Given the description of an element on the screen output the (x, y) to click on. 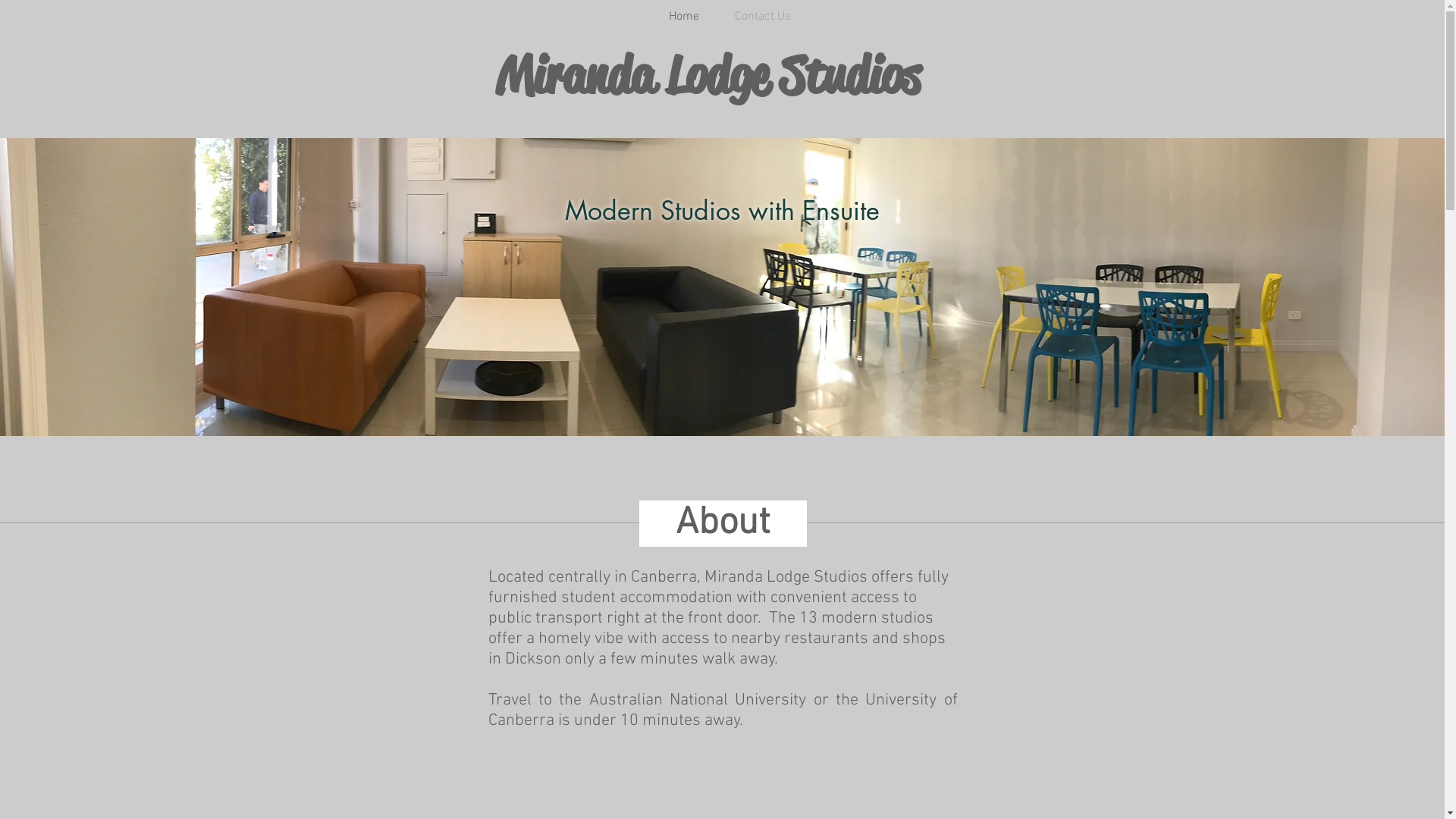
Home Element type: text (683, 17)
Contact Us Element type: text (762, 17)
